Given the description of an element on the screen output the (x, y) to click on. 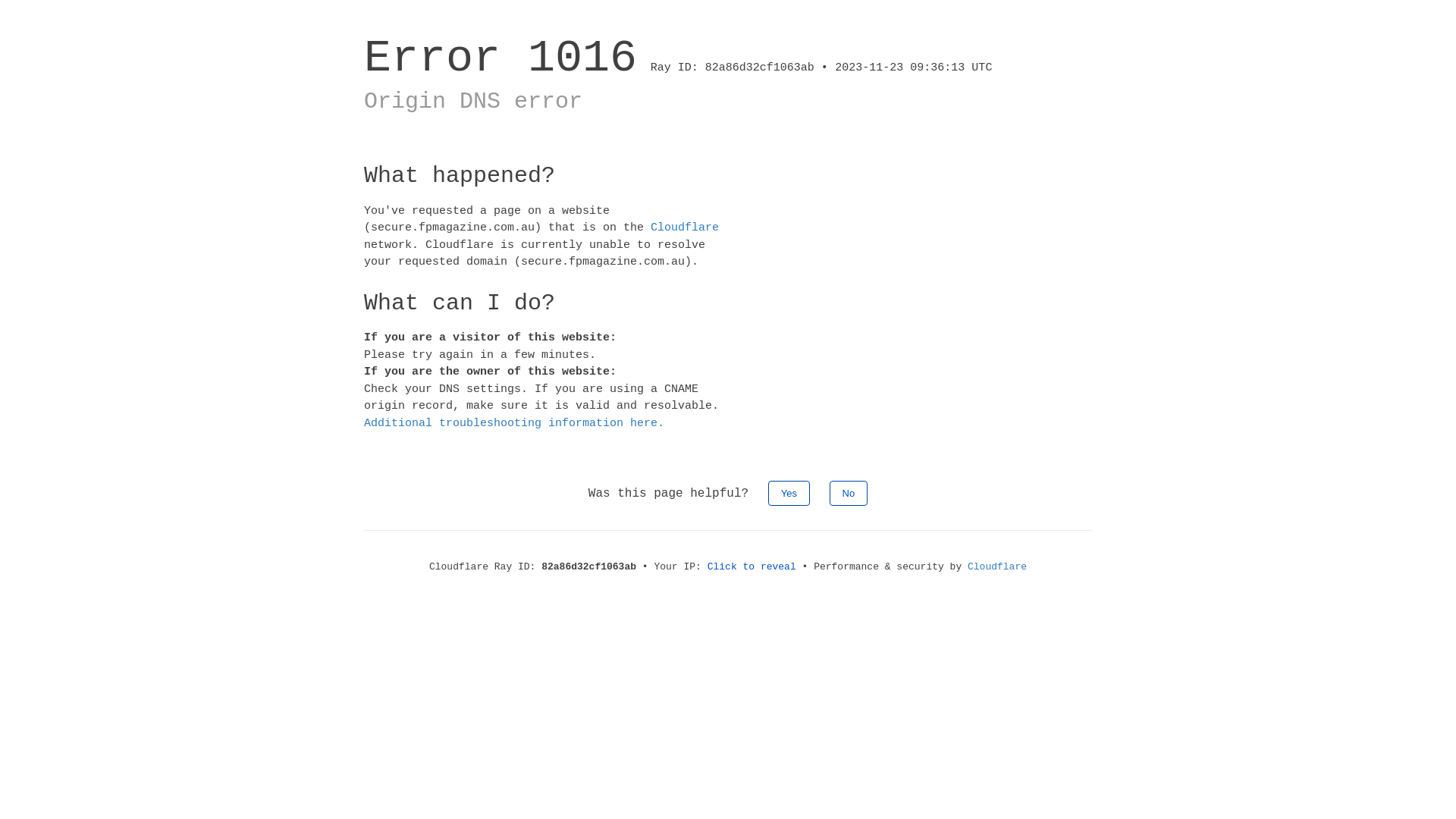
Cloudflare Element type: text (996, 566)
Yes Element type: text (788, 492)
Additional troubleshooting information here. Element type: text (514, 423)
Cloudflare Element type: text (684, 227)
Click to reveal Element type: text (751, 566)
No Element type: text (848, 492)
